Given the description of an element on the screen output the (x, y) to click on. 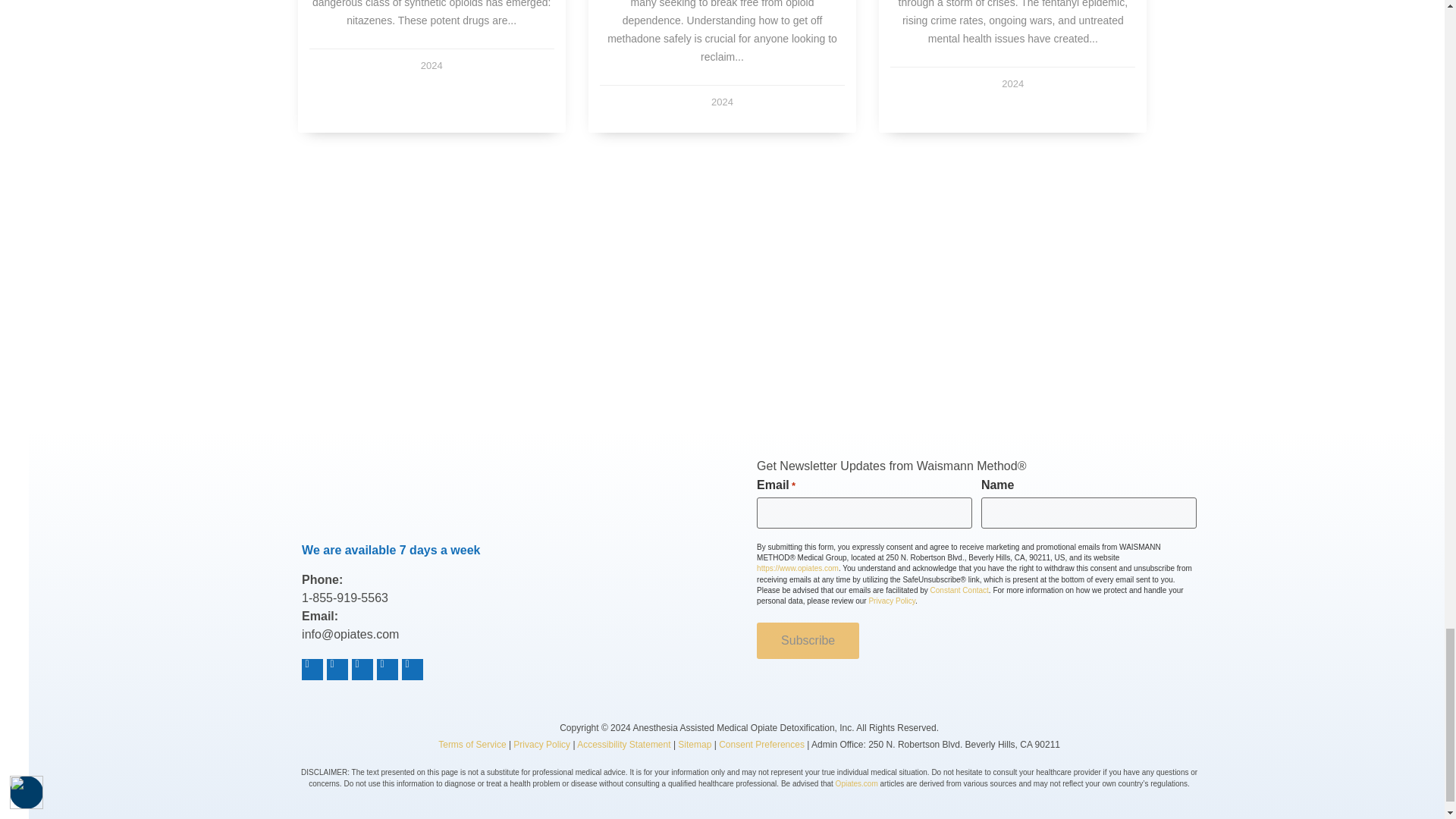
expertise (809, 329)
Subscribe (808, 640)
